Given the description of an element on the screen output the (x, y) to click on. 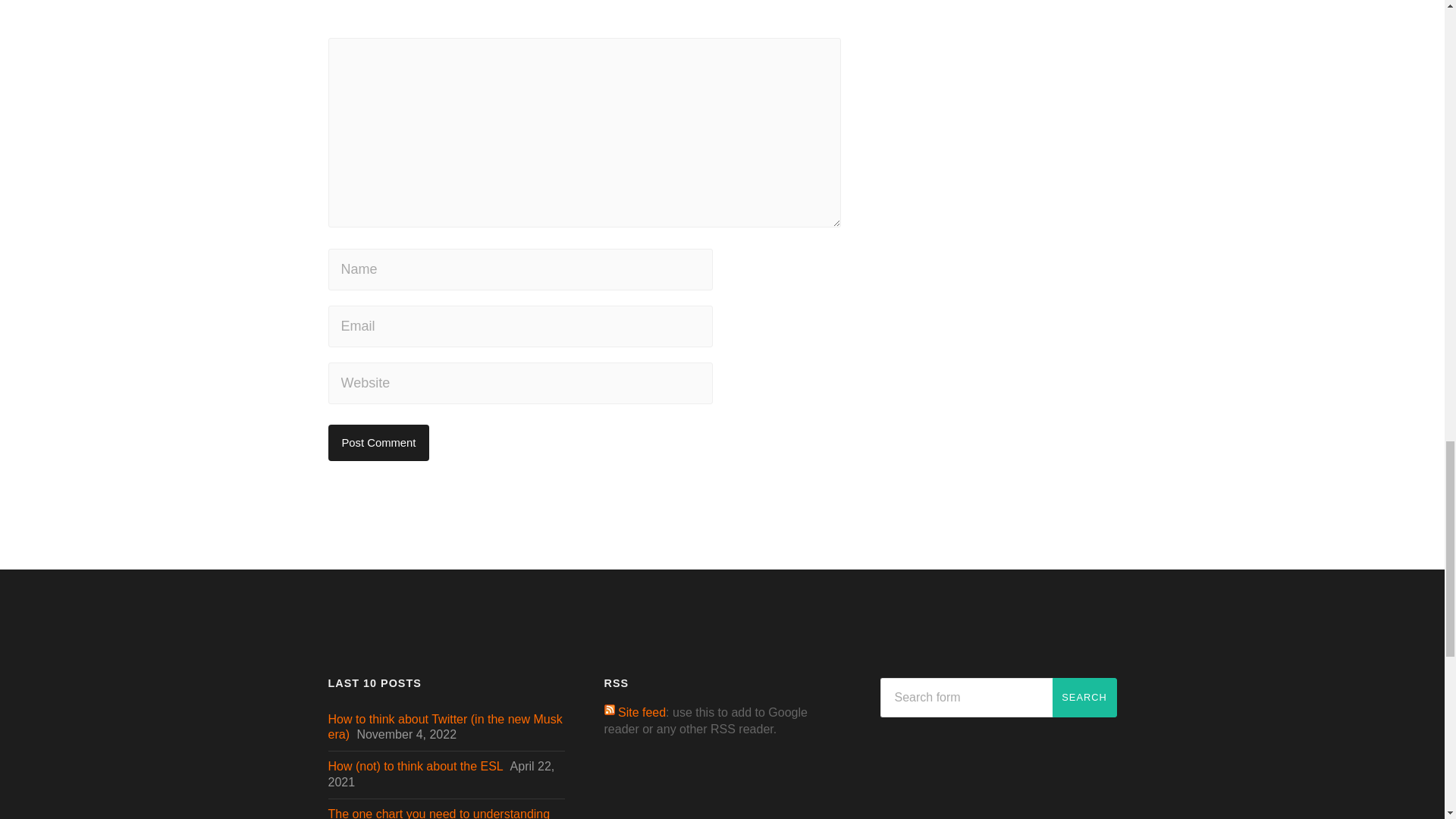
Search (1084, 697)
Post Comment (378, 443)
Post Comment (378, 443)
